Given the description of an element on the screen output the (x, y) to click on. 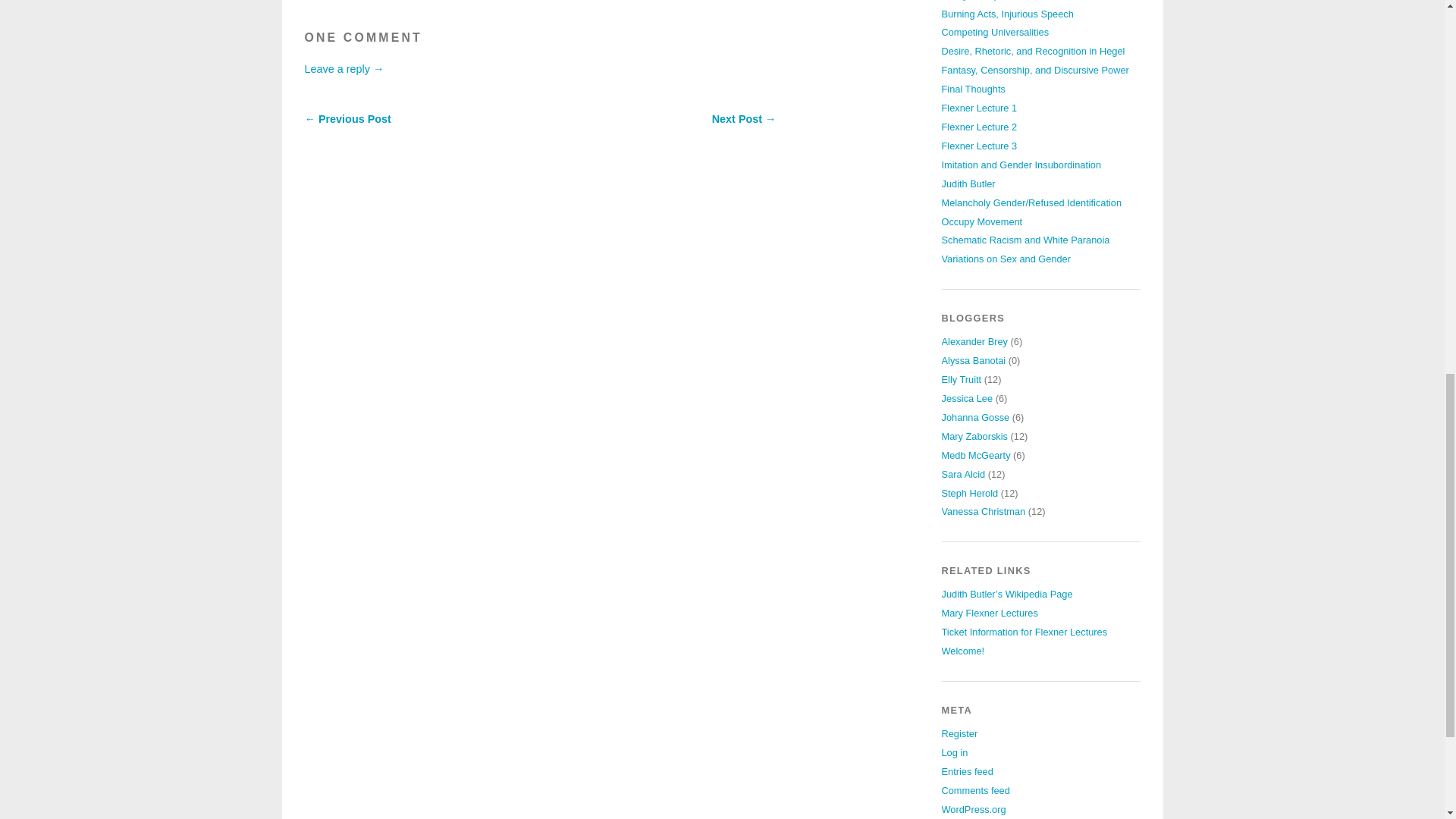
Posts by Alyssa Banotai (974, 360)
Burning Acts, Injurious Speech (1008, 13)
Desire, Rhetoric, and Recognition in Hegel (1033, 50)
Posts by Medb McGearty (976, 455)
Posts by Mary Zaborskis (974, 436)
Posts by Jessica Lee (967, 398)
Posts by Elly Truitt (961, 378)
Posts by Alexander Brey (975, 341)
